Given the description of an element on the screen output the (x, y) to click on. 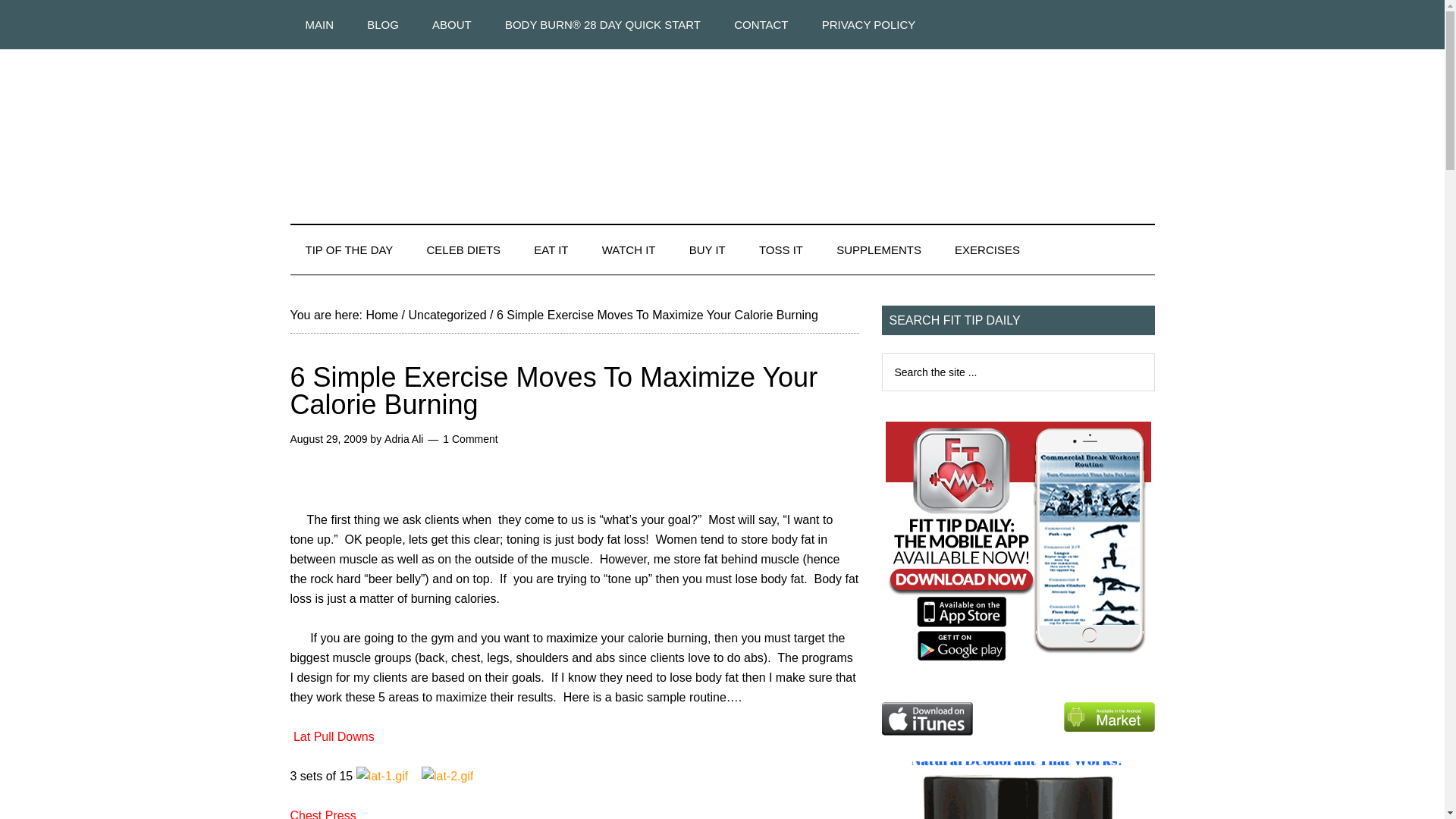
ABOUT (451, 24)
BLOG (382, 24)
WATCH IT (628, 249)
MAIN (319, 24)
1 Comment (469, 439)
Uncategorized (446, 314)
Adria Ali (403, 439)
TOSS IT (781, 249)
Fit Tip Daily (721, 123)
